Given the description of an element on the screen output the (x, y) to click on. 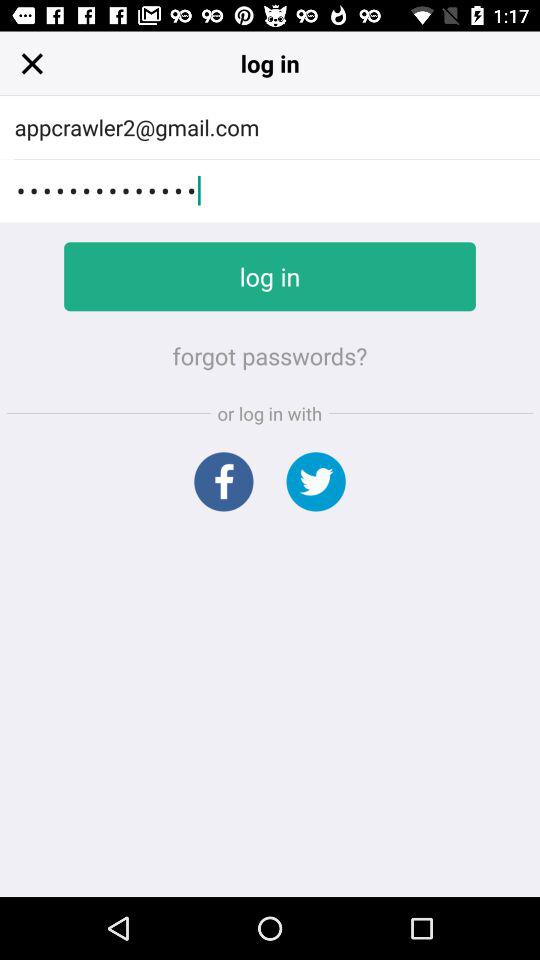
open facebook (223, 481)
